Given the description of an element on the screen output the (x, y) to click on. 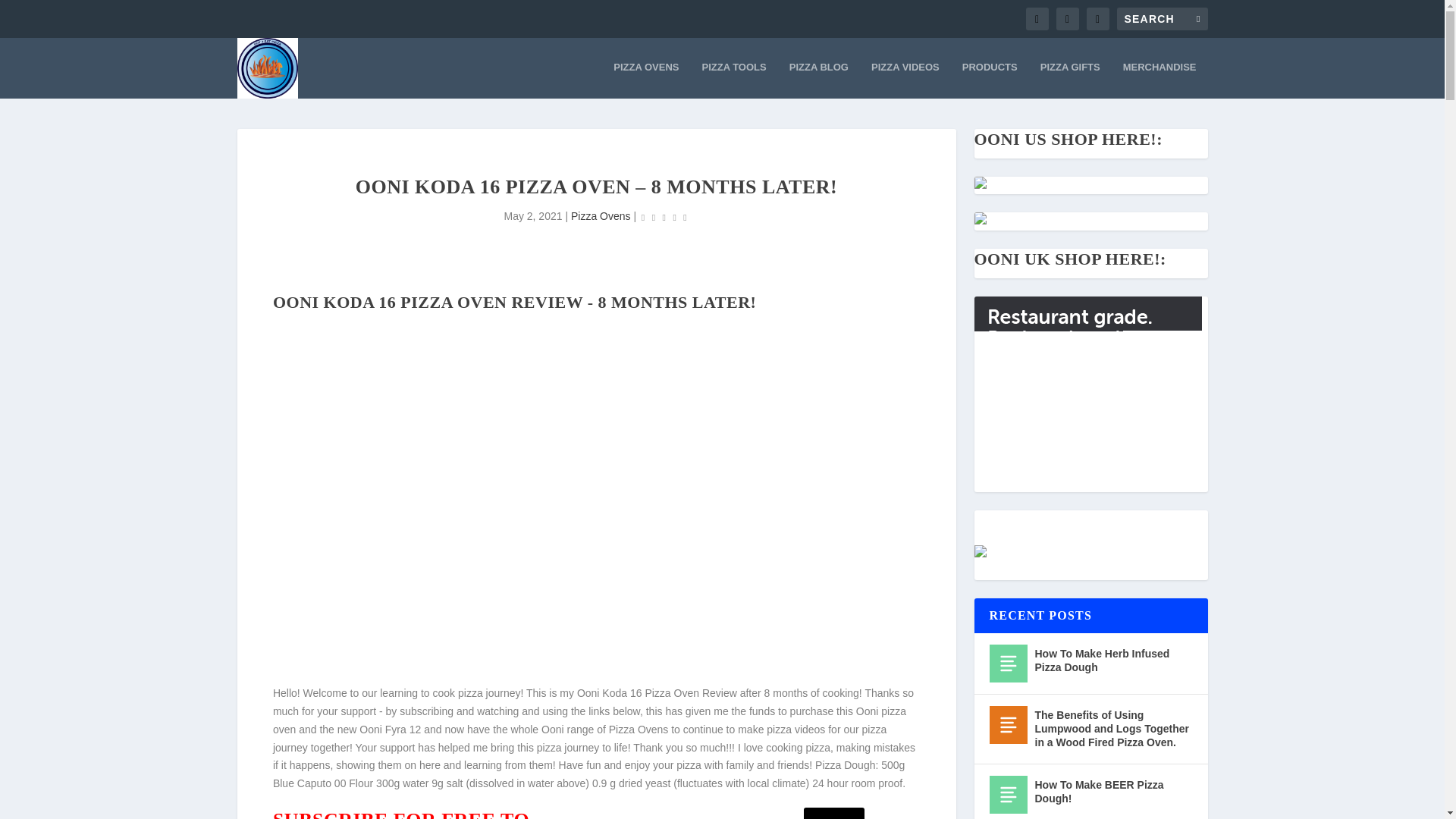
PIZZA TOOLS (733, 79)
PRODUCTS (989, 79)
PIZZA OVENS (645, 79)
PIZZA BLOG (818, 79)
Search for: (1161, 18)
PIZZA VIDEOS (904, 79)
PIZZA GIFTS (1070, 79)
MERCHANDISE (1159, 79)
